Given the description of an element on the screen output the (x, y) to click on. 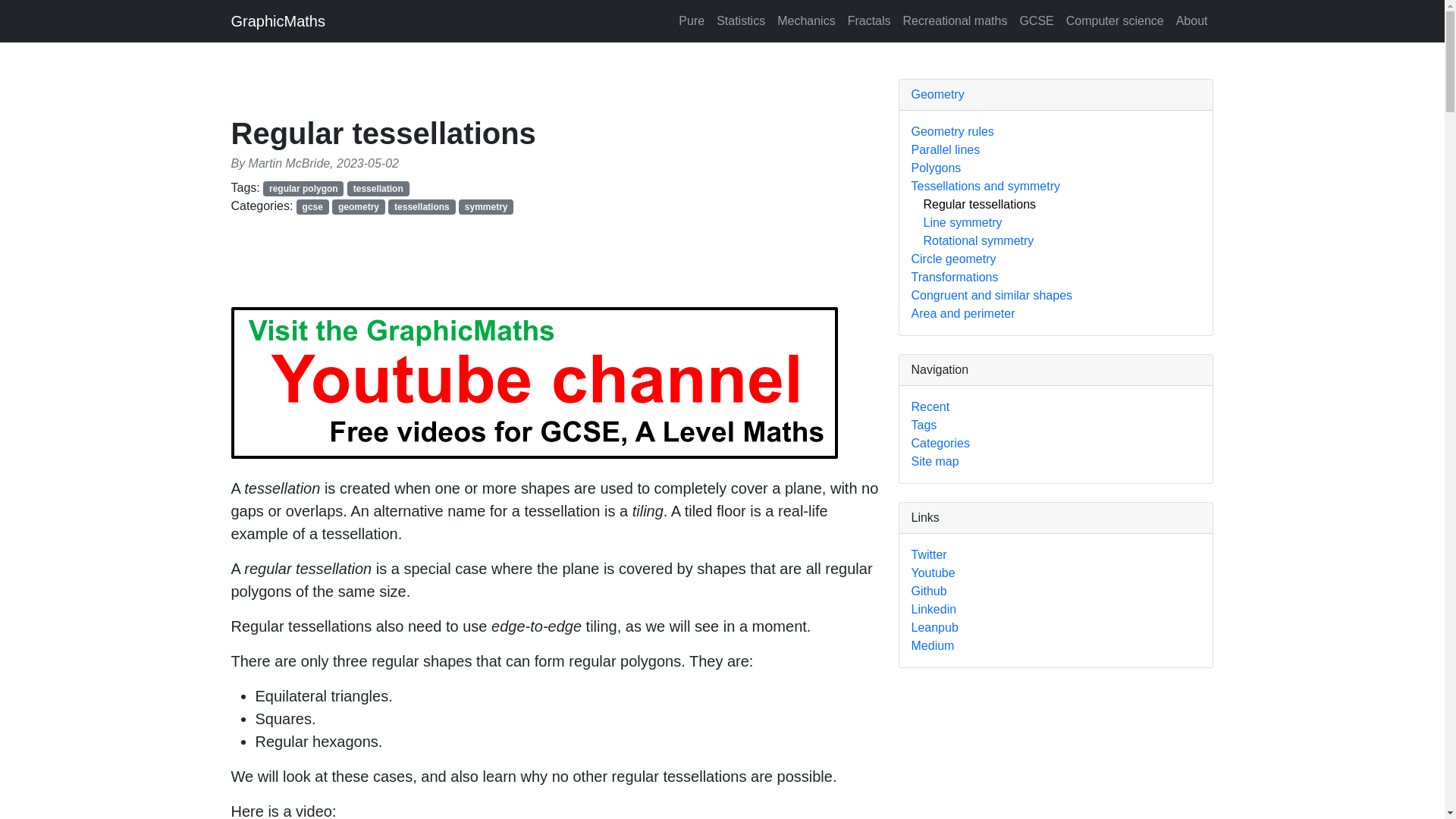
Mechanics (806, 20)
Pure (691, 20)
geometry (358, 206)
tessellation (378, 188)
Recreational maths (954, 20)
gcse (313, 206)
GCSE (1036, 20)
Statistics (740, 20)
symmetry (485, 206)
GraphicMaths (277, 20)
About (1192, 20)
Computer science (1114, 20)
Fractals (868, 20)
Advertisement (506, 267)
regular polygon (303, 188)
